Given the description of an element on the screen output the (x, y) to click on. 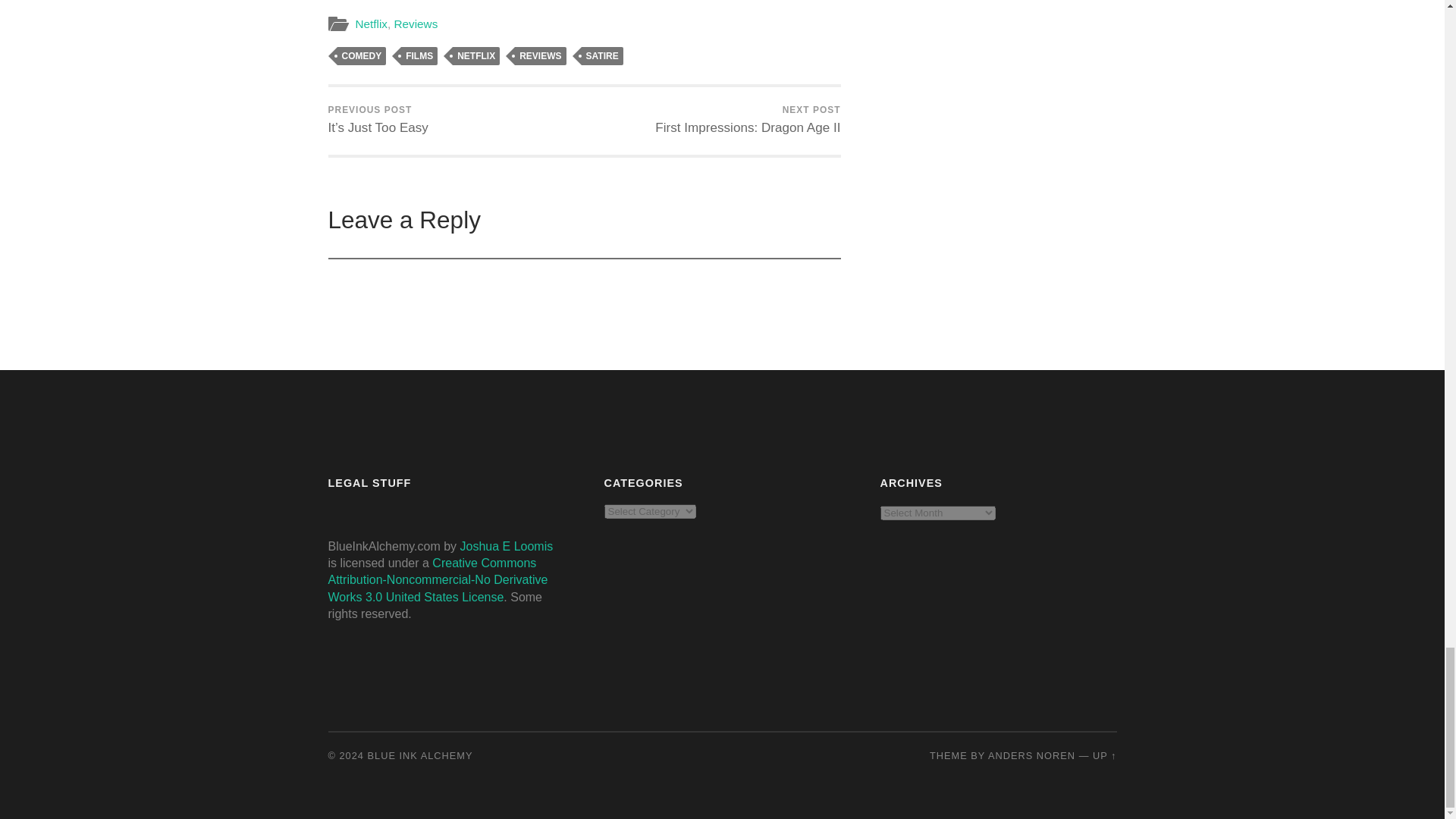
Next post: (747, 120)
Reviews (416, 23)
Netflix (371, 23)
COMEDY (360, 55)
